Given the description of an element on the screen output the (x, y) to click on. 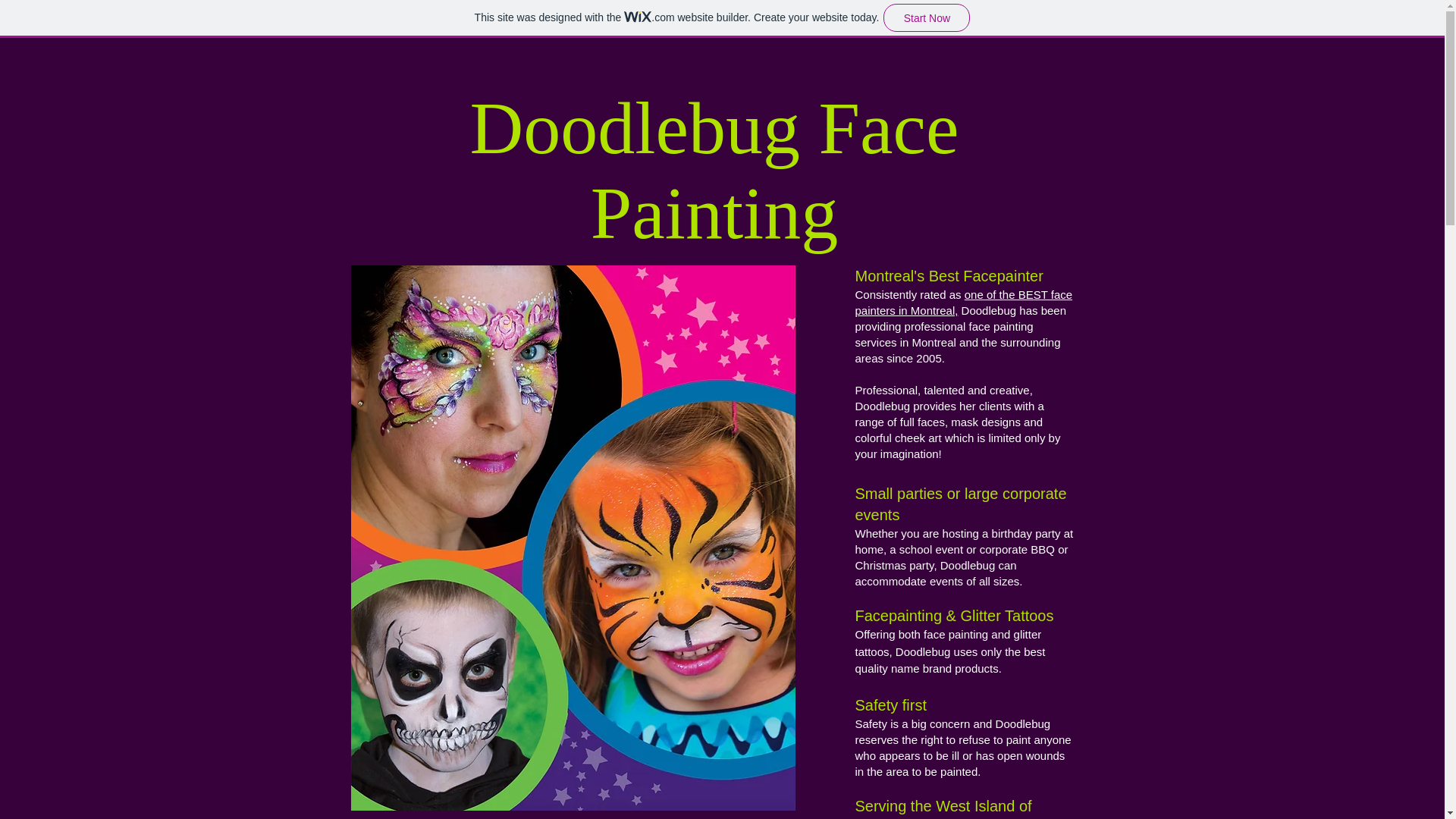
one of the BEST face painters in Montreal, (964, 302)
